Given the description of an element on the screen output the (x, y) to click on. 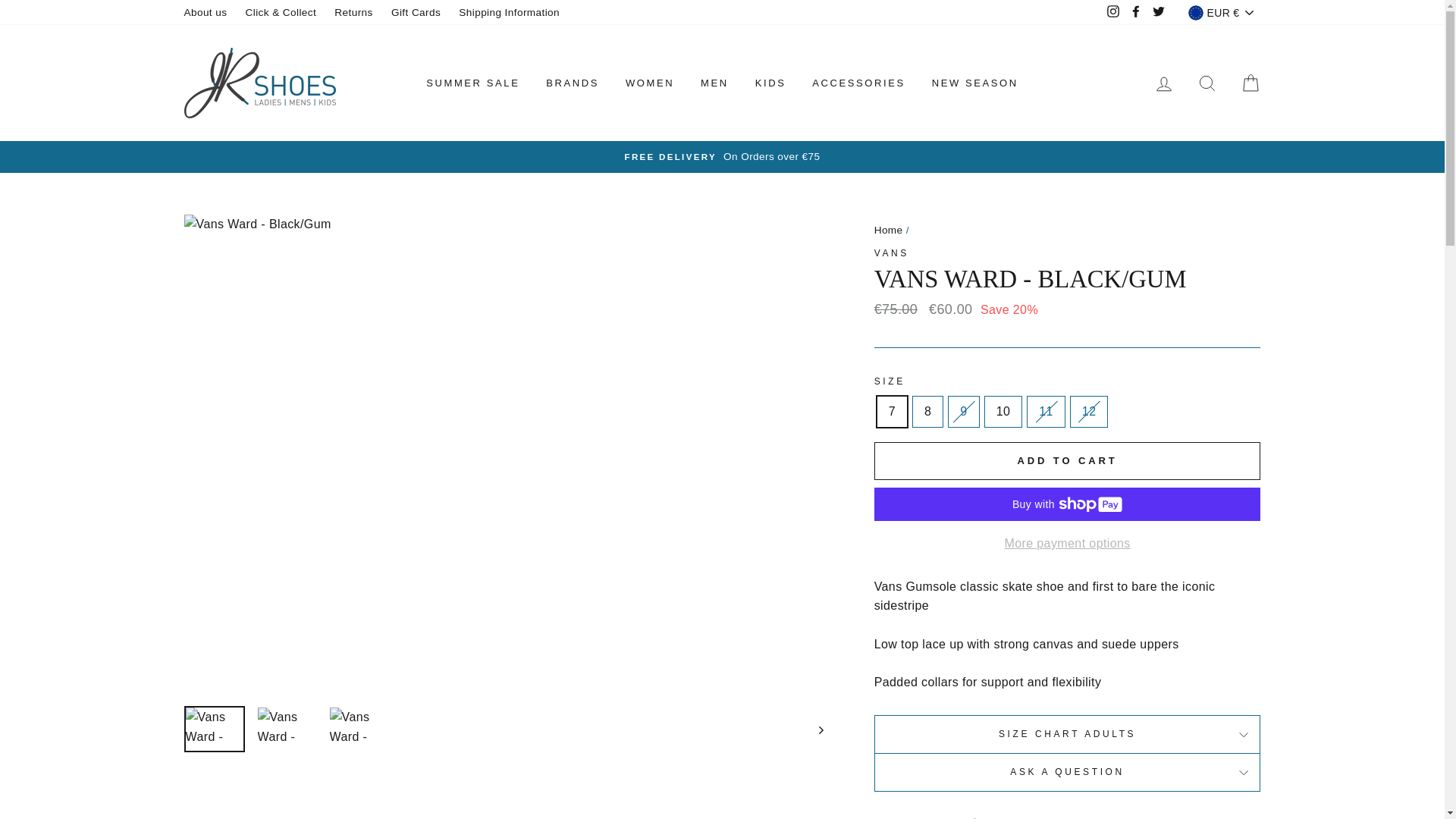
Share on Facebook (996, 816)
Back to the frontpage (888, 229)
Pin on Pinterest (1141, 816)
Tweet on Twitter (1069, 816)
